Given the description of an element on the screen output the (x, y) to click on. 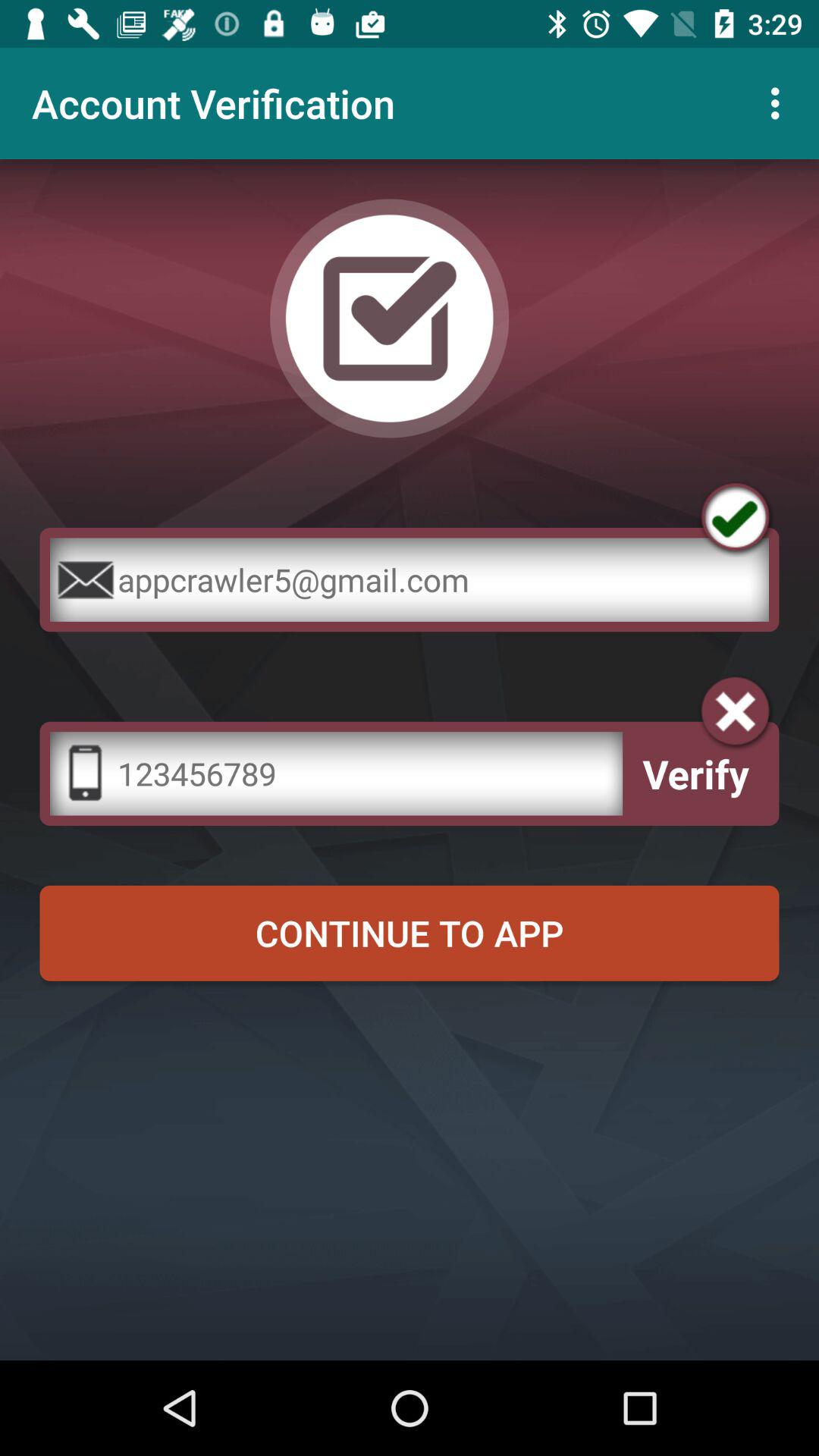
scroll until continue to app (409, 933)
